Given the description of an element on the screen output the (x, y) to click on. 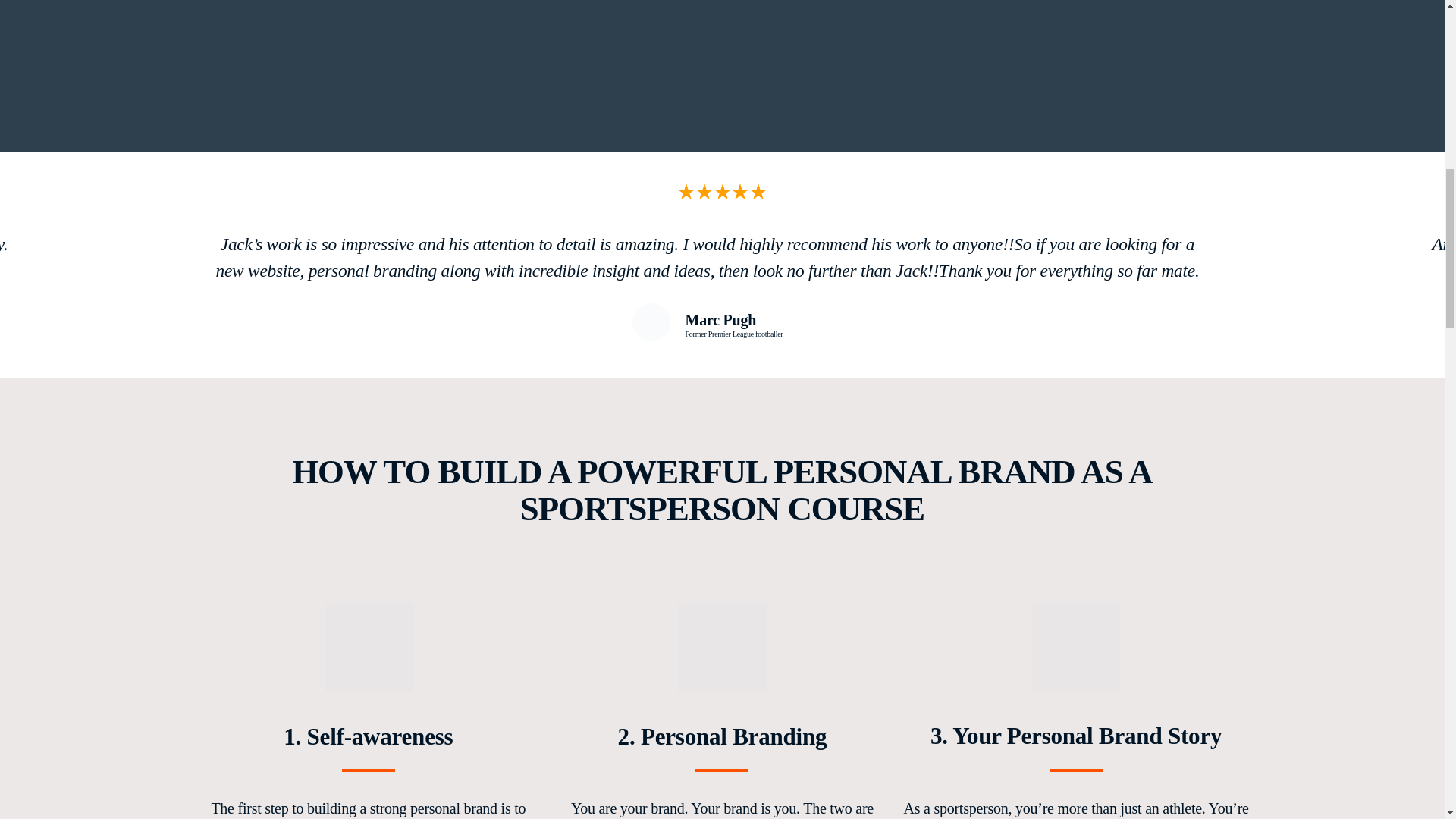
FREE Mini Course 7 (1076, 646)
FREE Mini Course 2 (650, 322)
FREE Mini Course 6 (722, 646)
FREE Mini Course 5 (368, 646)
